Given the description of an element on the screen output the (x, y) to click on. 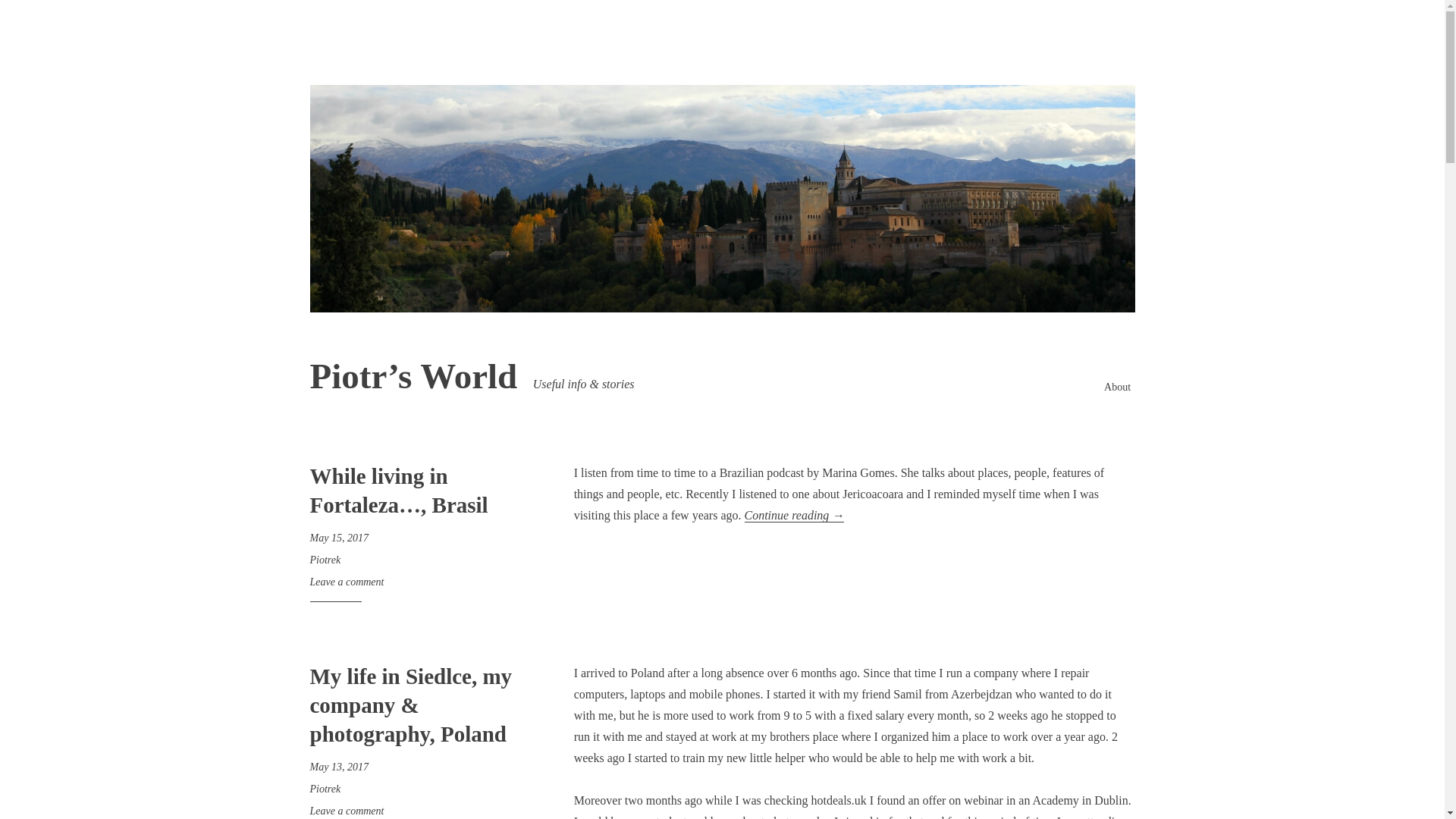
Leave a comment (346, 810)
About (1117, 387)
Leave a comment (346, 582)
May 15, 2017 (338, 537)
Piotrek (324, 559)
May 13, 2017 (338, 767)
Piotrek (324, 788)
